Given the description of an element on the screen output the (x, y) to click on. 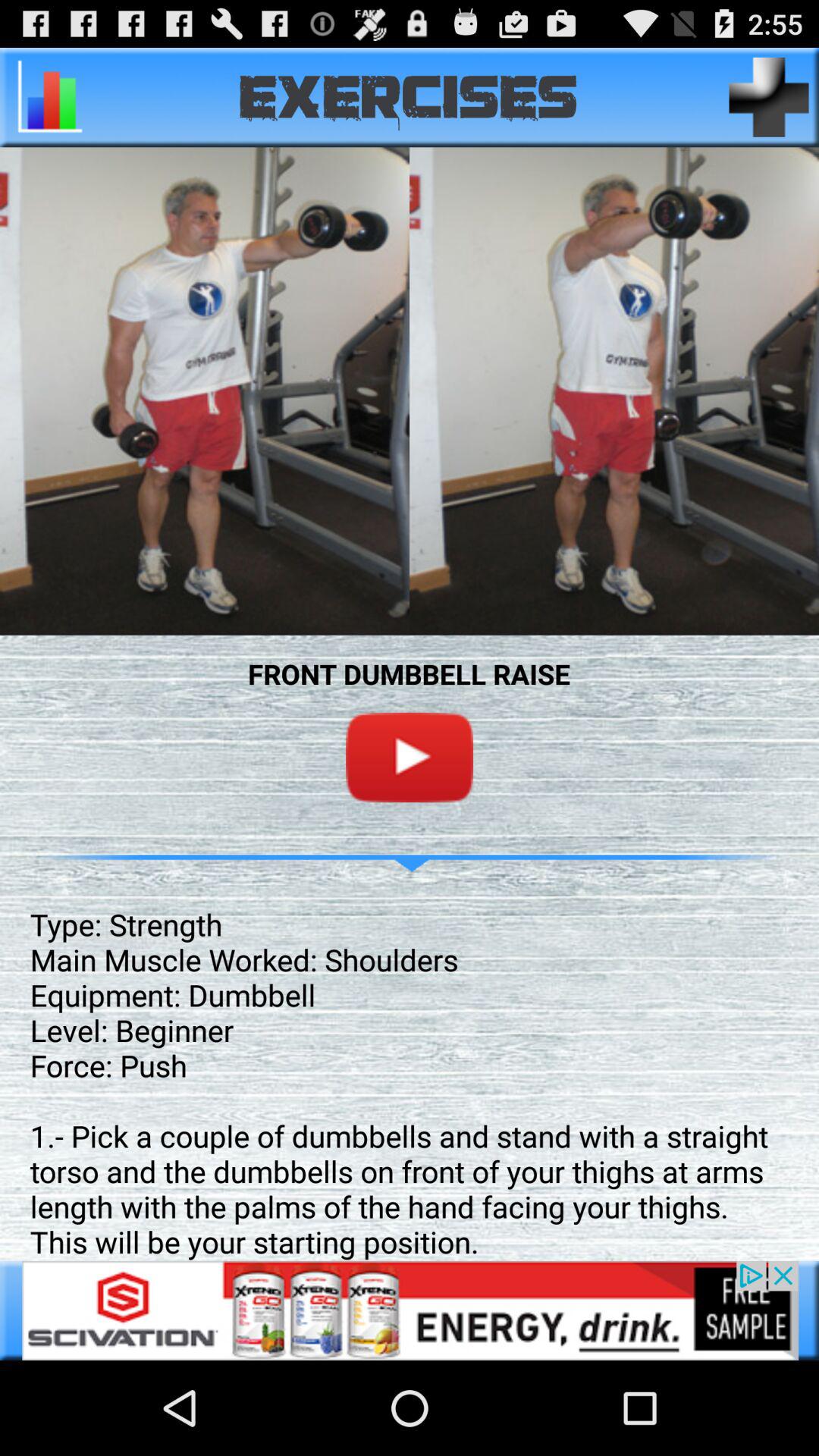
energy drink (409, 1310)
